Given the description of an element on the screen output the (x, y) to click on. 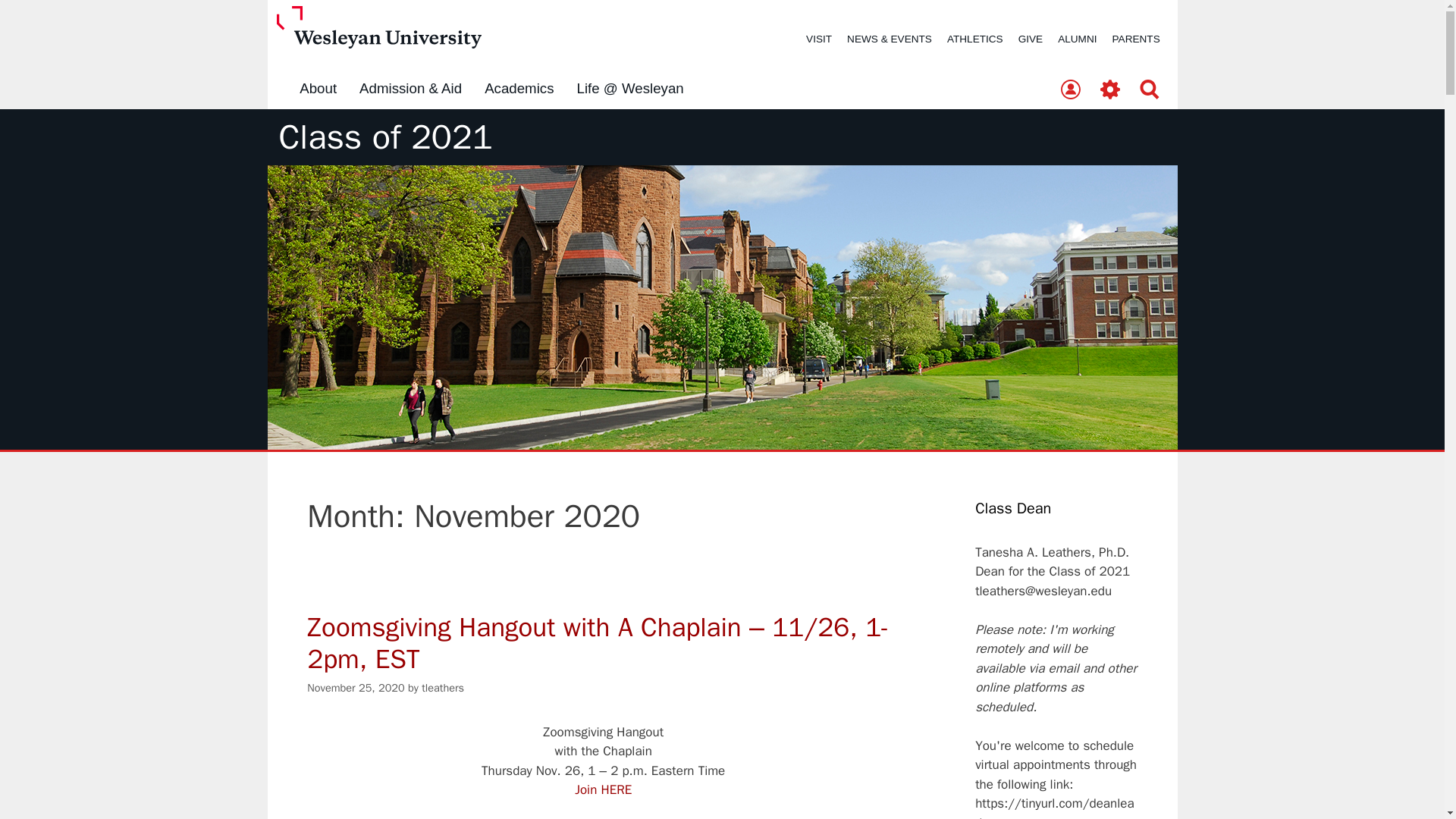
PARENTS (1136, 39)
ALUMNI (1076, 39)
View all posts by tleathers (443, 687)
GIVE (1029, 39)
Join HERE (603, 789)
tleathers (443, 687)
Class of 2021 (386, 137)
Academics (518, 89)
Tools (1109, 90)
Search (1149, 90)
VISIT (818, 39)
Directory (1069, 90)
About (317, 89)
ATHLETICS (974, 39)
